Given the description of an element on the screen output the (x, y) to click on. 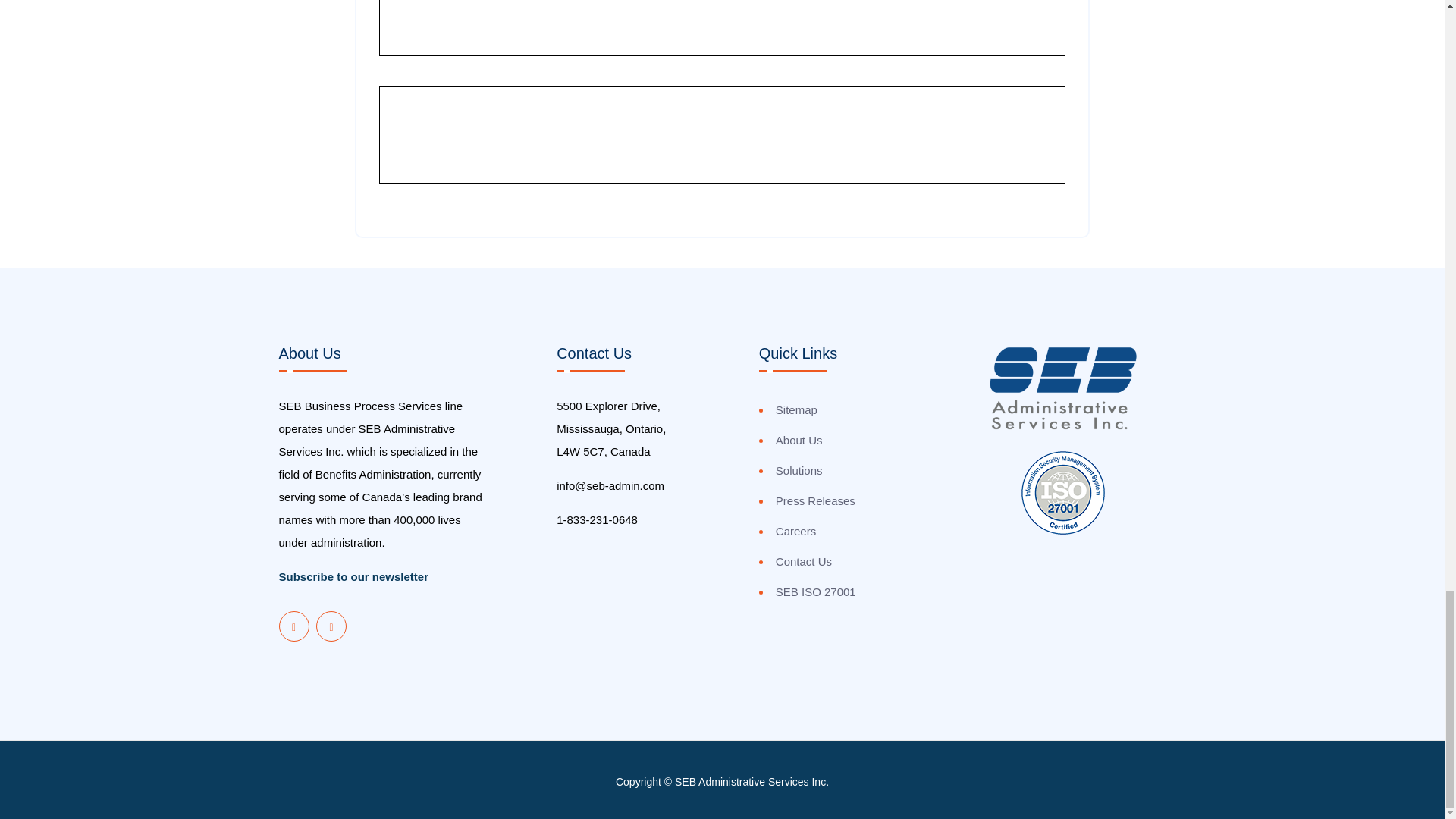
Sitemap (796, 409)
Planning and Implementing a Focused DEI Strategy (663, 29)
Solutions (799, 470)
Contact Us (803, 562)
Press Releases (816, 501)
Careers (795, 531)
Subscribe to our newsletter (354, 576)
About Us (799, 440)
SEB ISO 27001 (816, 592)
